Given the description of an element on the screen output the (x, y) to click on. 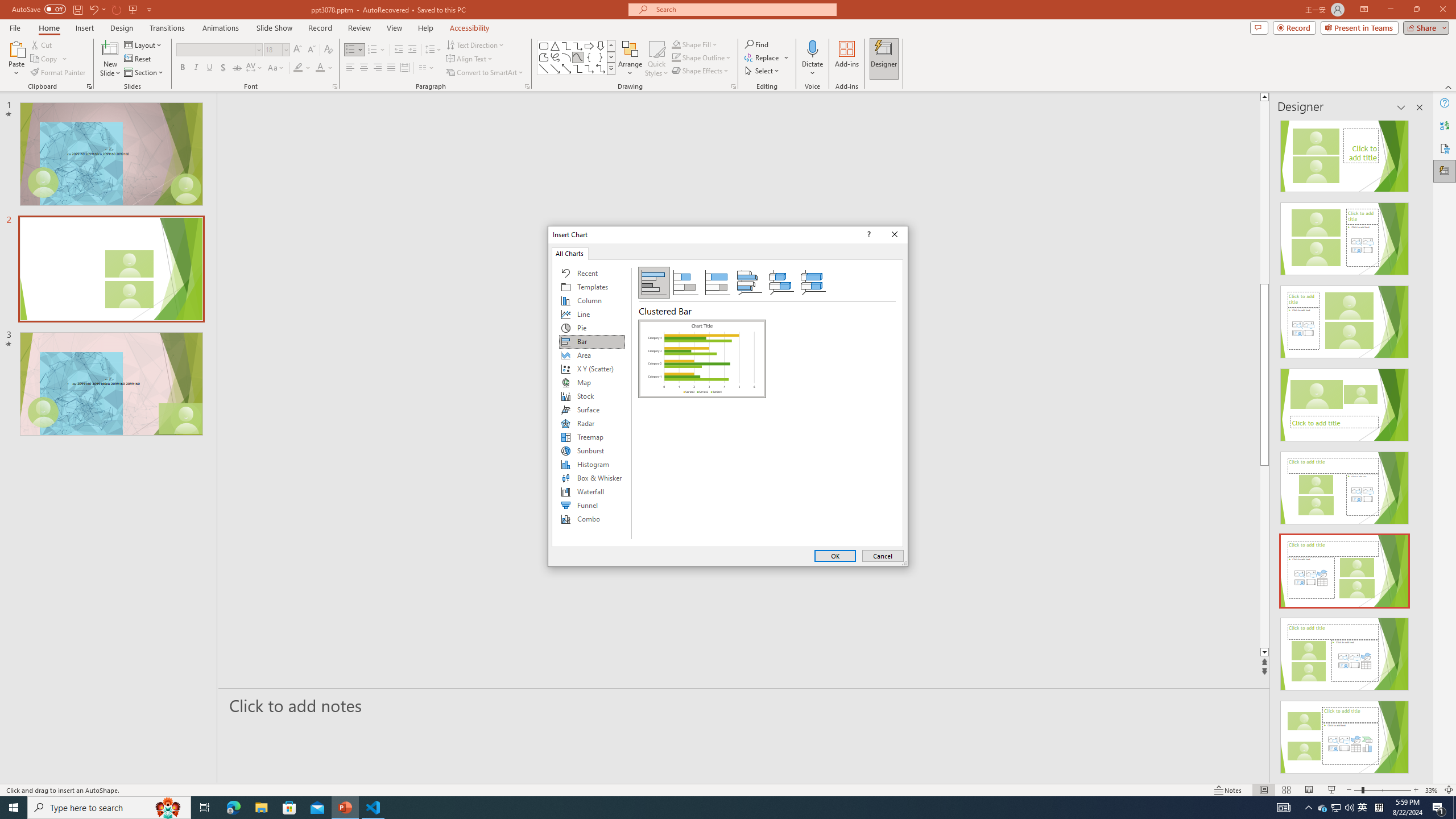
Action Center, 1 new notification (1439, 807)
Waterfall (591, 491)
All Charts (569, 253)
Combo (591, 518)
Align Right (377, 67)
